Given the description of an element on the screen output the (x, y) to click on. 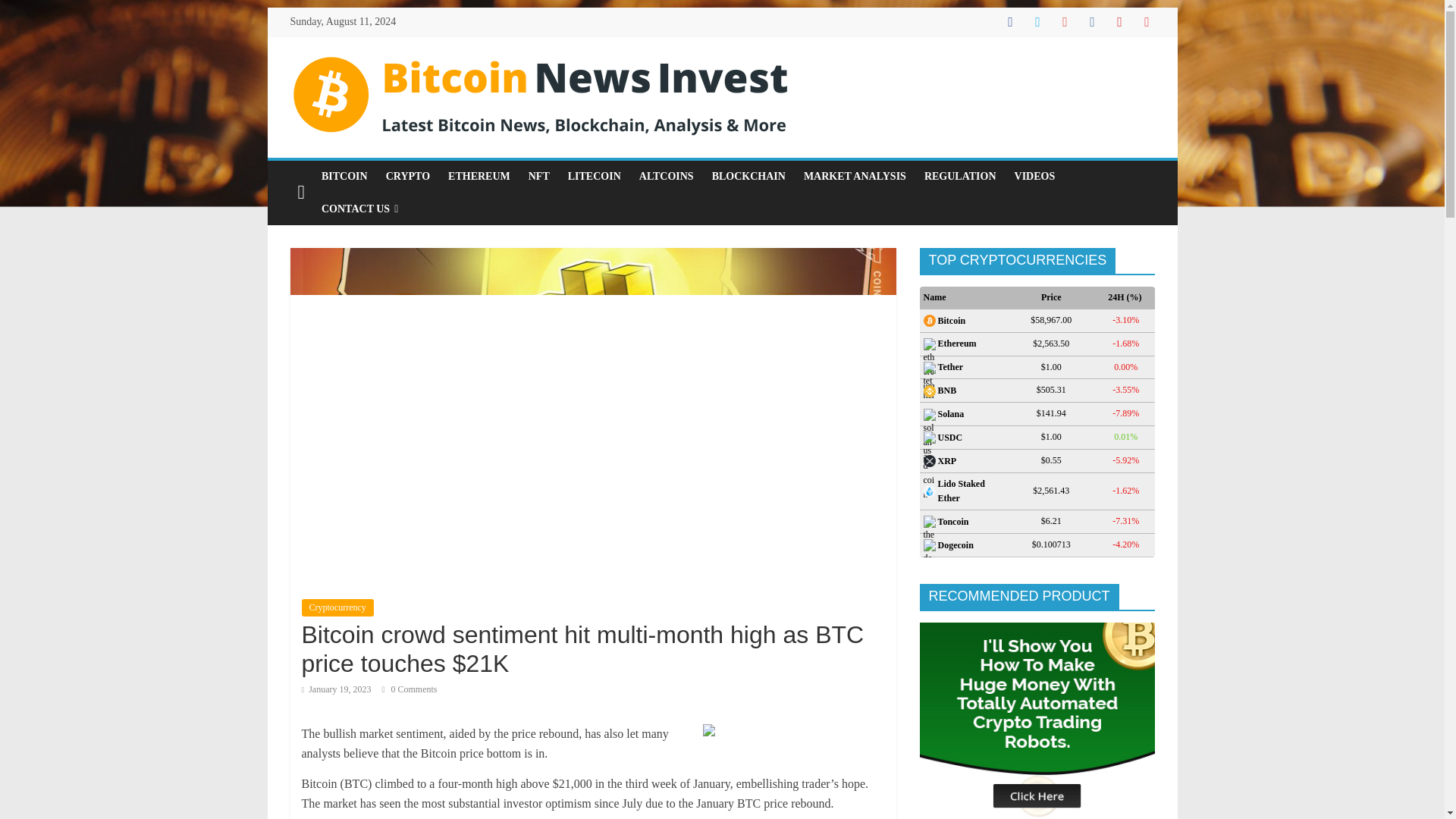
REGULATION (960, 176)
ALTCOINS (666, 176)
CRYPTO (408, 176)
BLOCKCHAIN (748, 176)
VIDEOS (1035, 176)
0 Comments (408, 688)
CONTACT US (360, 209)
January 19, 2023 (336, 688)
NFT (539, 176)
MARKET ANALYSIS (854, 176)
